Given the description of an element on the screen output the (x, y) to click on. 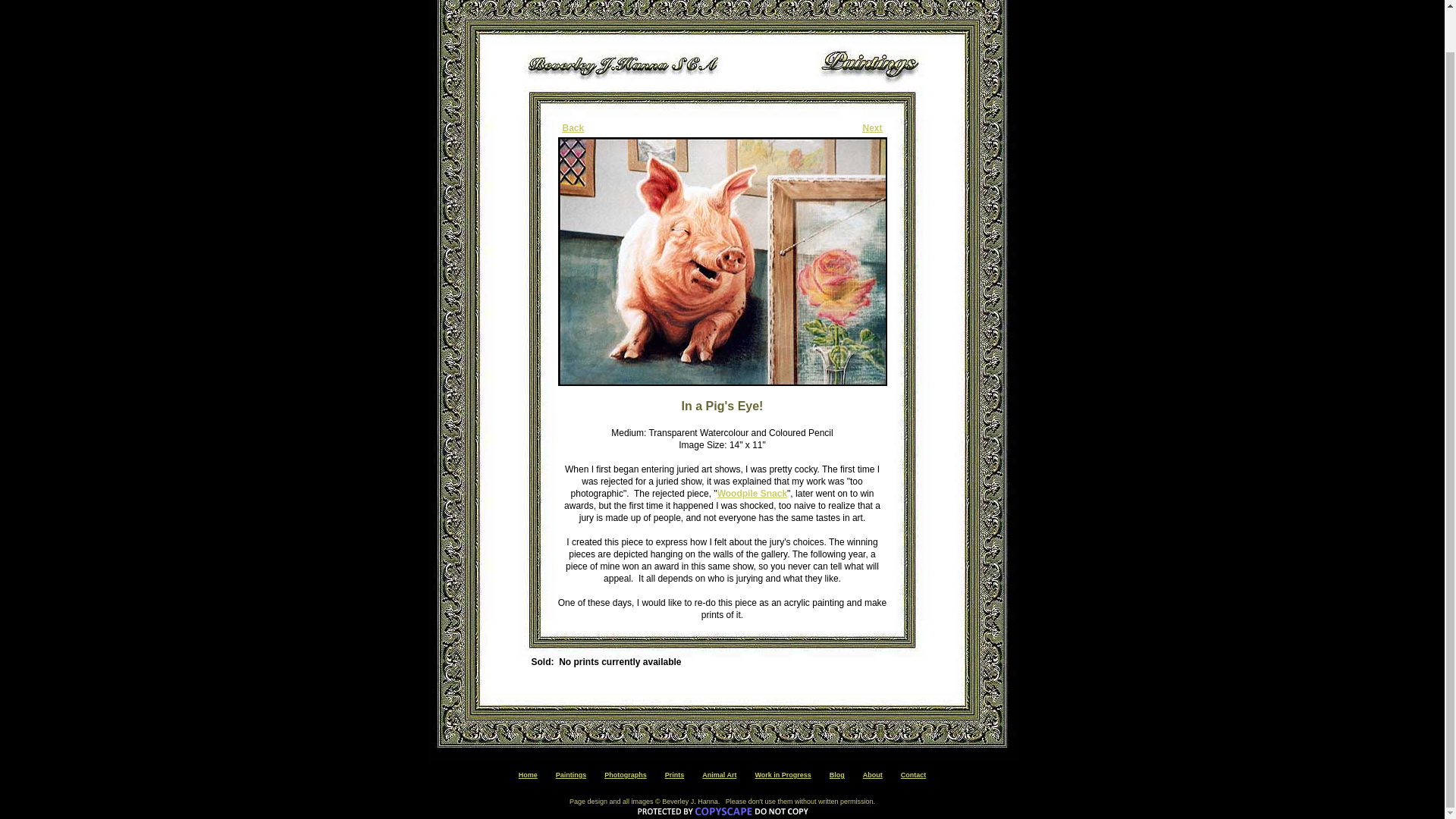
Photographs (625, 774)
Home (527, 774)
Blog (836, 774)
Work in Progress (782, 774)
Woodpile Snack (752, 493)
Back (573, 127)
Paintings (571, 774)
Contact (913, 774)
Next (871, 127)
Prints (674, 774)
Animal Art (718, 774)
About (872, 774)
